Given the description of an element on the screen output the (x, y) to click on. 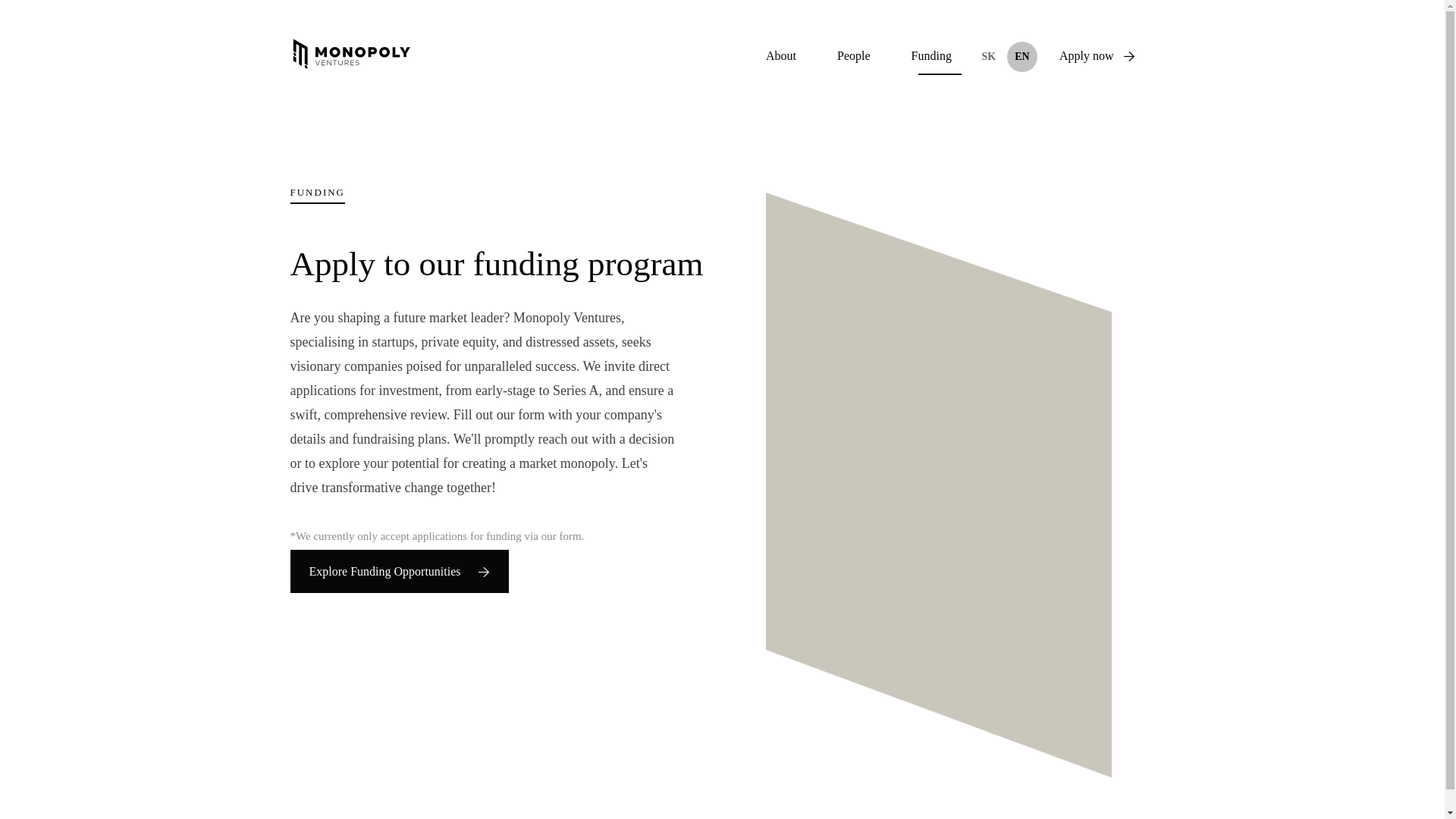
SK (989, 56)
Explore Funding Opportunities (398, 570)
Monopoly Ventures (349, 54)
EN (1021, 56)
Apply now (1097, 56)
About (780, 56)
People (853, 56)
Funding (931, 56)
